Given the description of an element on the screen output the (x, y) to click on. 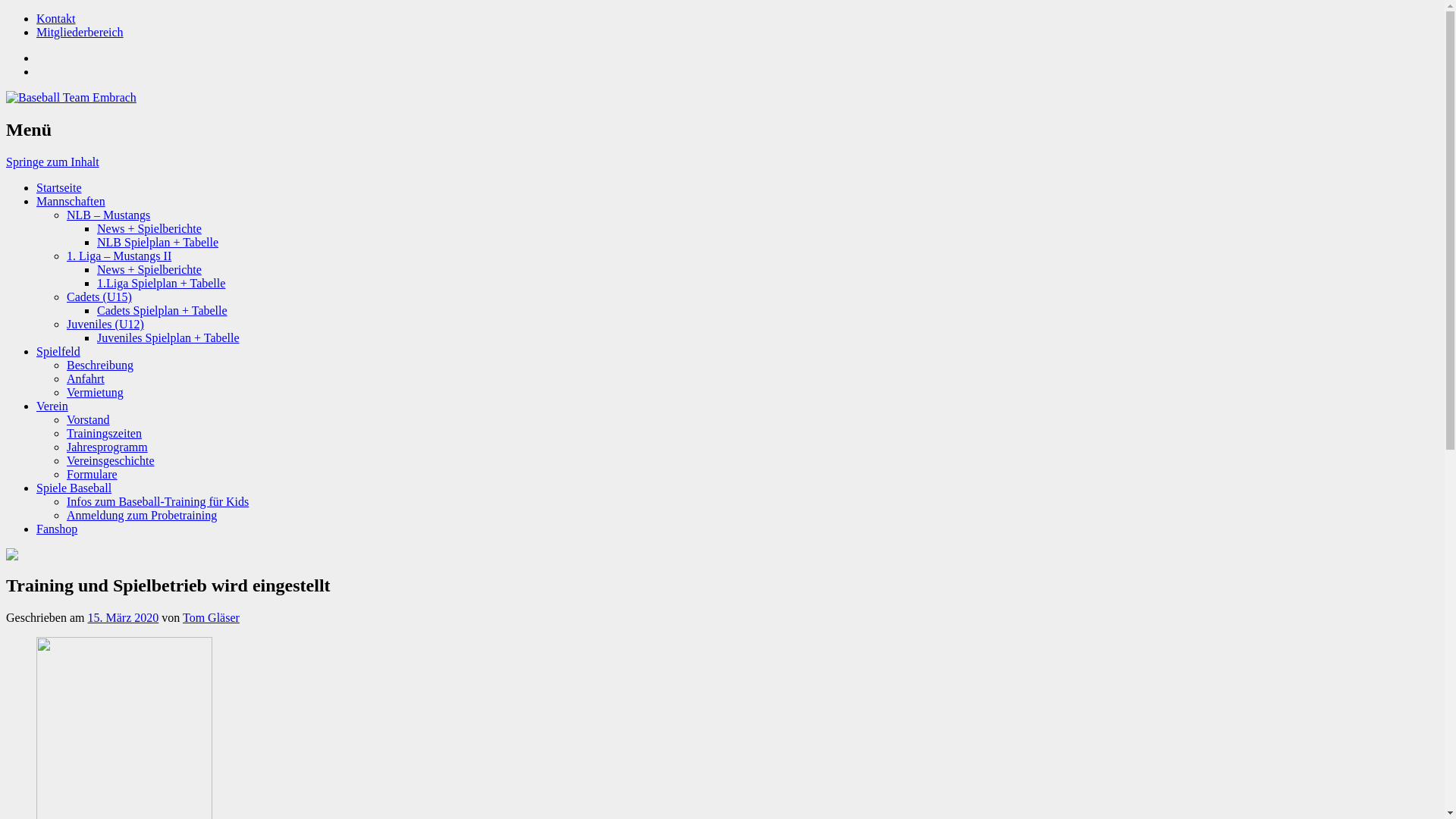
Mitgliederbereich Element type: text (79, 31)
Mannschaften Element type: text (70, 200)
Formulare Element type: text (91, 473)
Spielfeld Element type: text (58, 351)
NLB Spielplan + Tabelle Element type: text (157, 241)
Jahresprogramm Element type: text (106, 446)
Trainingszeiten Element type: text (103, 432)
Kontakt Element type: text (55, 18)
Anfahrt Element type: text (85, 378)
Cadets (U15) Element type: text (98, 296)
1.Liga Spielplan + Tabelle Element type: text (161, 282)
Verein Element type: text (52, 405)
Cadets Spielplan + Tabelle Element type: text (162, 310)
Vereinsgeschichte Element type: text (110, 460)
Juveniles Spielplan + Tabelle Element type: text (168, 337)
Vorstand Element type: text (87, 419)
News + Spielberichte Element type: text (149, 269)
Anmeldung zum Probetraining Element type: text (141, 514)
Beschreibung Element type: text (99, 364)
News + Spielberichte Element type: text (149, 228)
Spiele Baseball Element type: text (73, 487)
Springe zum Inhalt Element type: text (52, 161)
Startseite Element type: text (58, 187)
Vermietung Element type: text (94, 391)
Juveniles (U12) Element type: text (105, 323)
Baseball Team Embrach Element type: hover (370, 554)
Fanshop Element type: text (56, 528)
Baseball Team Embrach Element type: hover (370, 97)
